Given the description of an element on the screen output the (x, y) to click on. 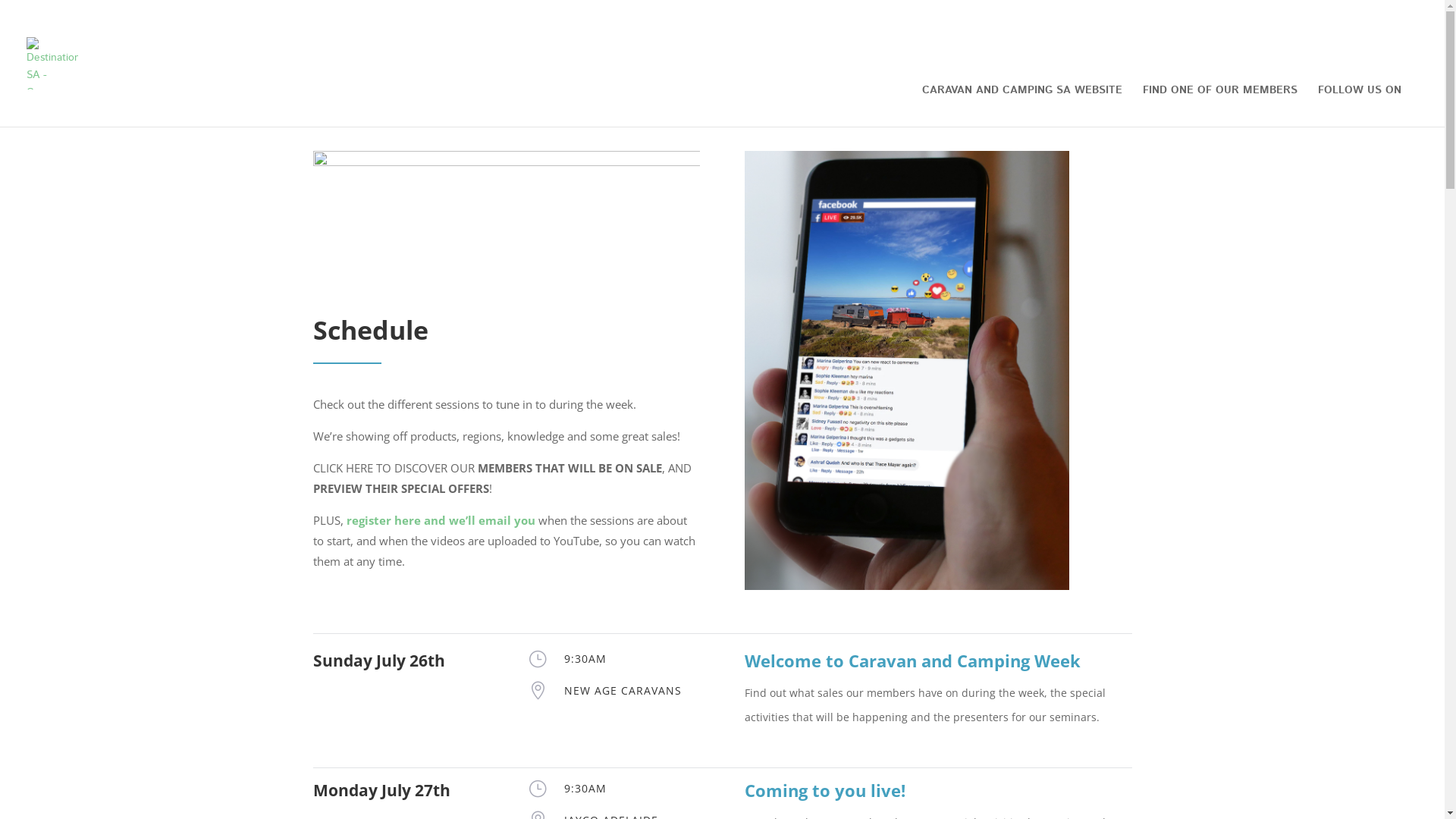
FOLLOW US ON Element type: text (1359, 105)
FIND ONE OF OUR MEMBERS Element type: text (1219, 105)
CARAVAN AND CAMPING SA WEBSITE Element type: text (1022, 105)
